Given the description of an element on the screen output the (x, y) to click on. 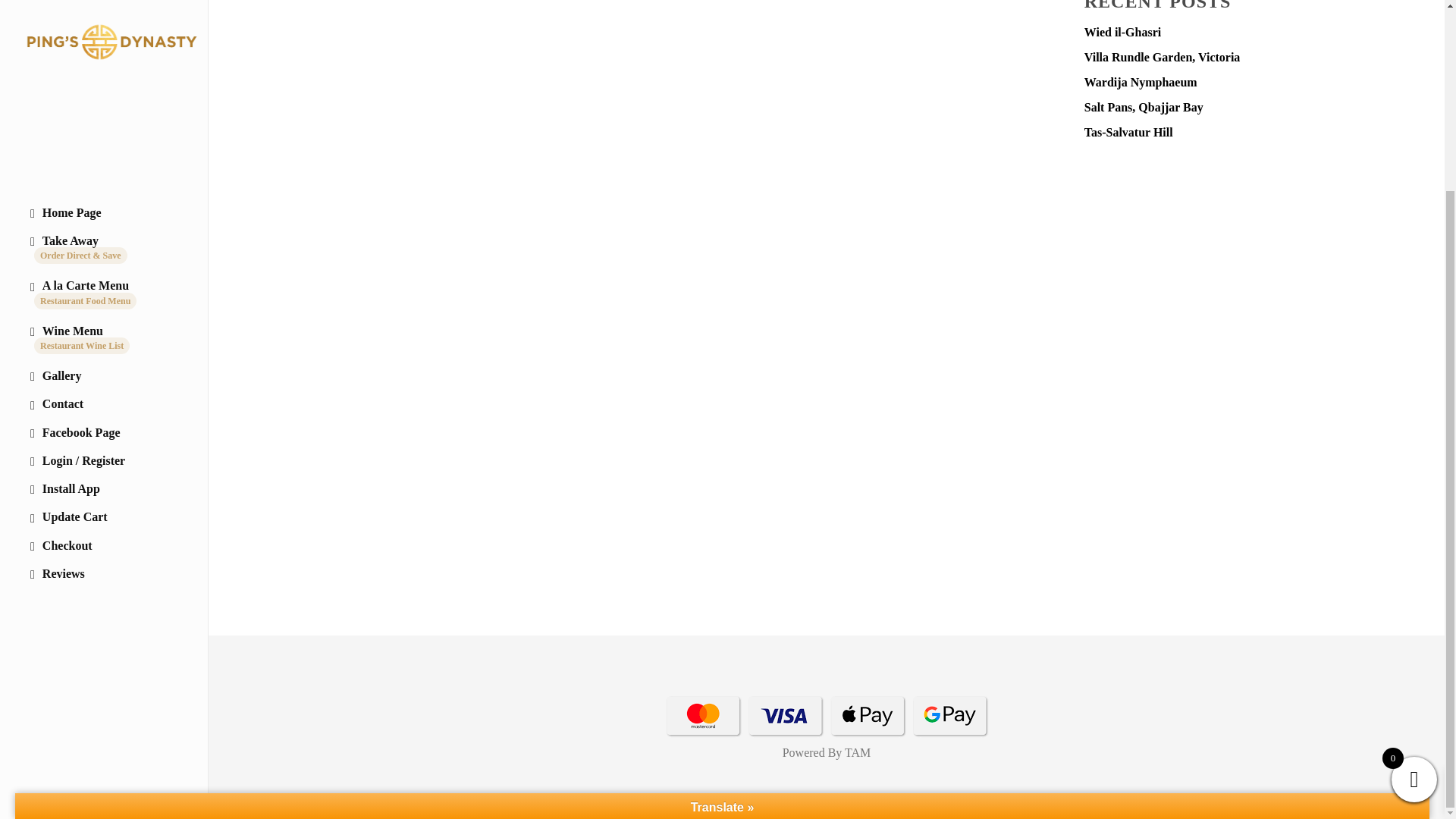
Reviews (103, 336)
Facebook Page (103, 194)
Update Cart (103, 279)
Contact (103, 166)
A la Carte MenuRestaurant Food Menu (103, 56)
Wine MenuRestaurant Wine List (103, 101)
Checkout (103, 308)
Gallery (103, 138)
Install App (103, 251)
